Given the description of an element on the screen output the (x, y) to click on. 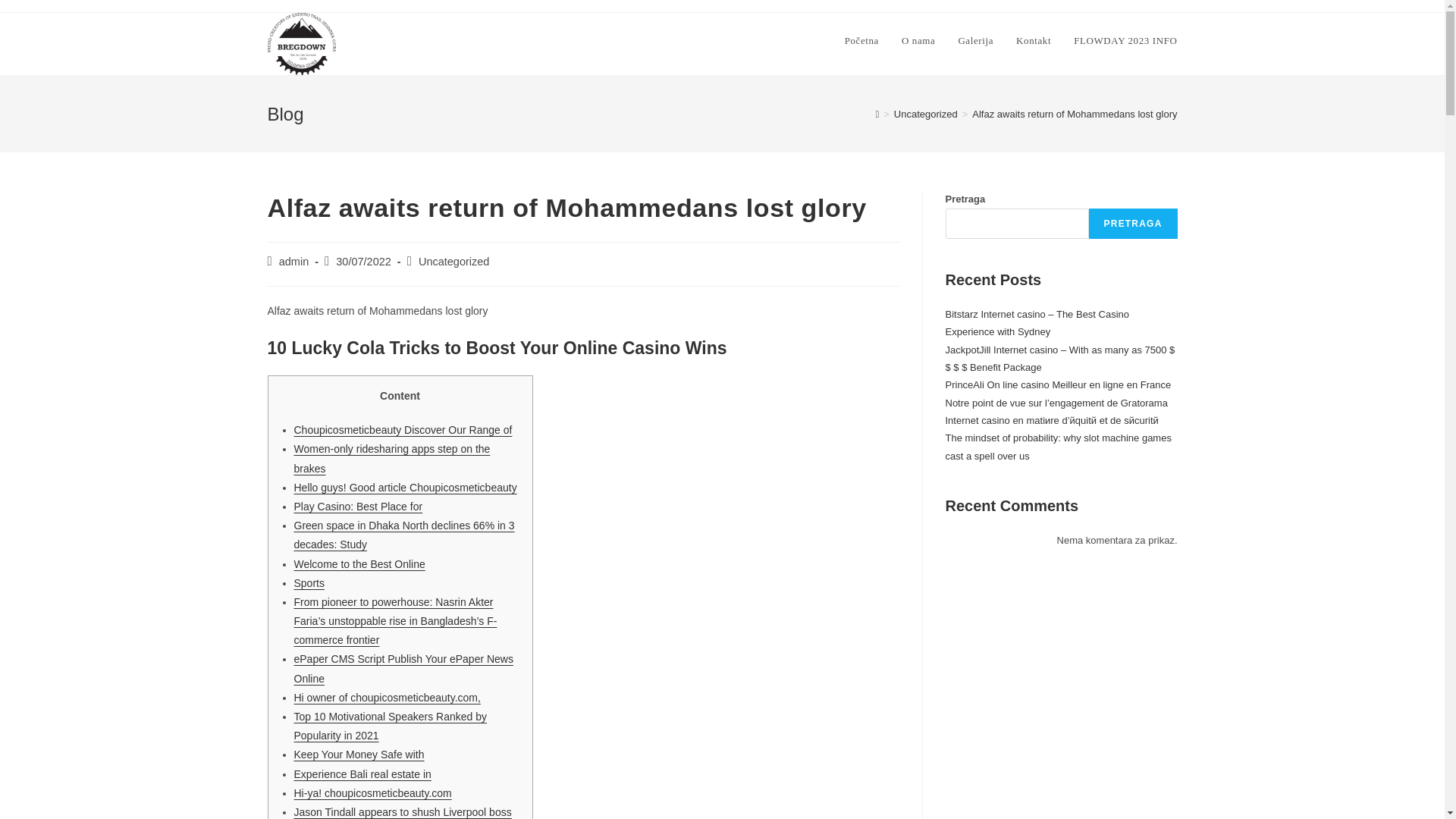
FLOWDAY 2023 INFO (1125, 40)
Women-only ridesharing apps step on the brakes (392, 458)
Hi-ya! choupicosmeticbeauty.com (372, 793)
admin (293, 261)
Sports (309, 582)
Play Casino: Best Place for (358, 506)
ePaper CMS Script Publish Your ePaper News Online (403, 667)
Objave od: admin (293, 261)
Choupicosmeticbeauty Discover Our Range of (403, 429)
Hi owner of choupicosmeticbeauty.com, (387, 697)
Top 10 Motivational Speakers Ranked by Popularity in 2021 (390, 726)
Keep Your Money Safe with (359, 754)
Uncategorized (454, 261)
Experience Bali real estate in (362, 774)
Hello guys! Good article Choupicosmeticbeauty (405, 487)
